Given the description of an element on the screen output the (x, y) to click on. 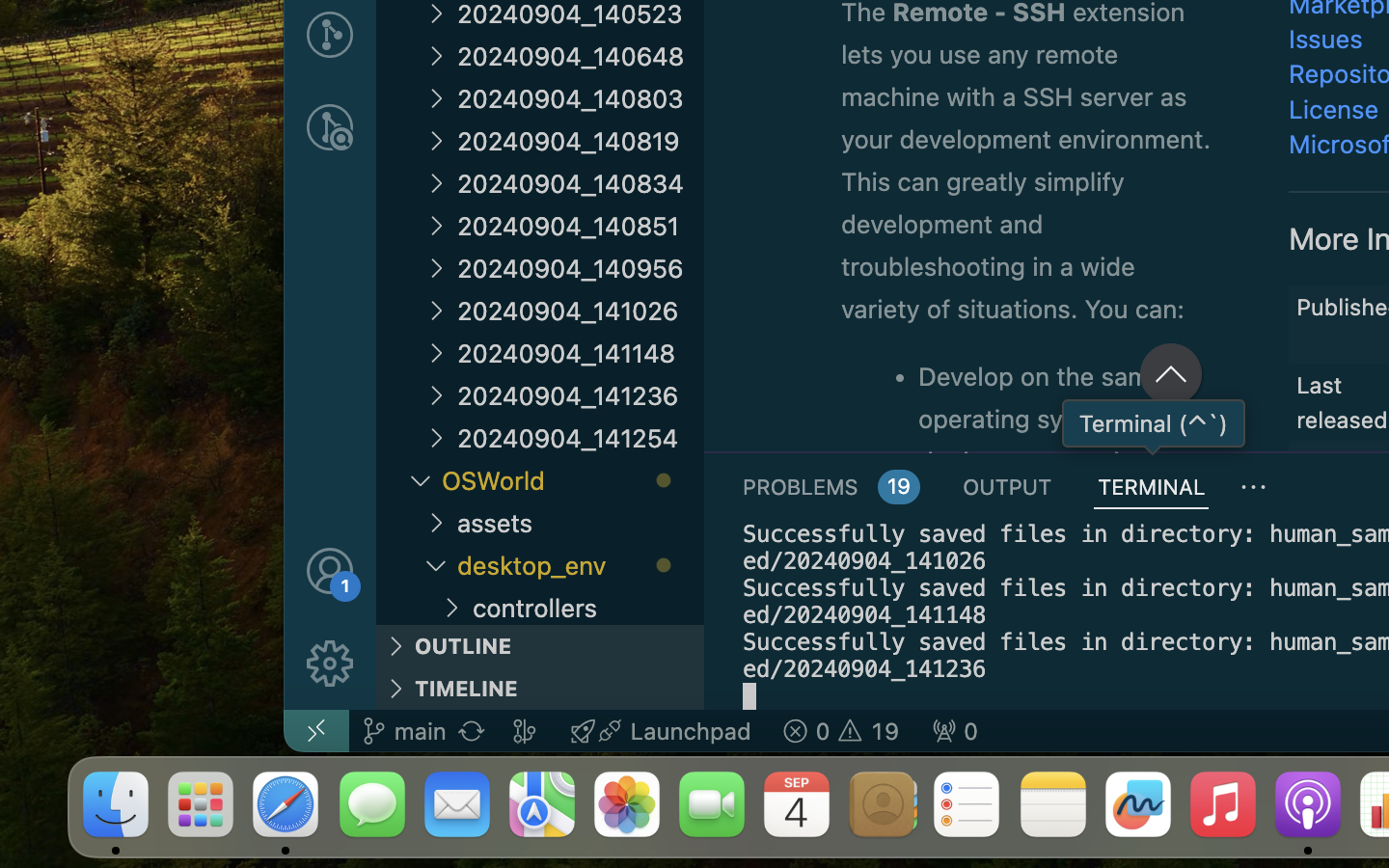
20240904_141236 Element type: AXGroup (580, 395)
main  Element type: AXButton (403, 730)
 0 Element type: AXButton (954, 730)
20240904_141254 Element type: AXGroup (580, 437)
20240904_140803 Element type: AXGroup (580, 98)
